Given the description of an element on the screen output the (x, y) to click on. 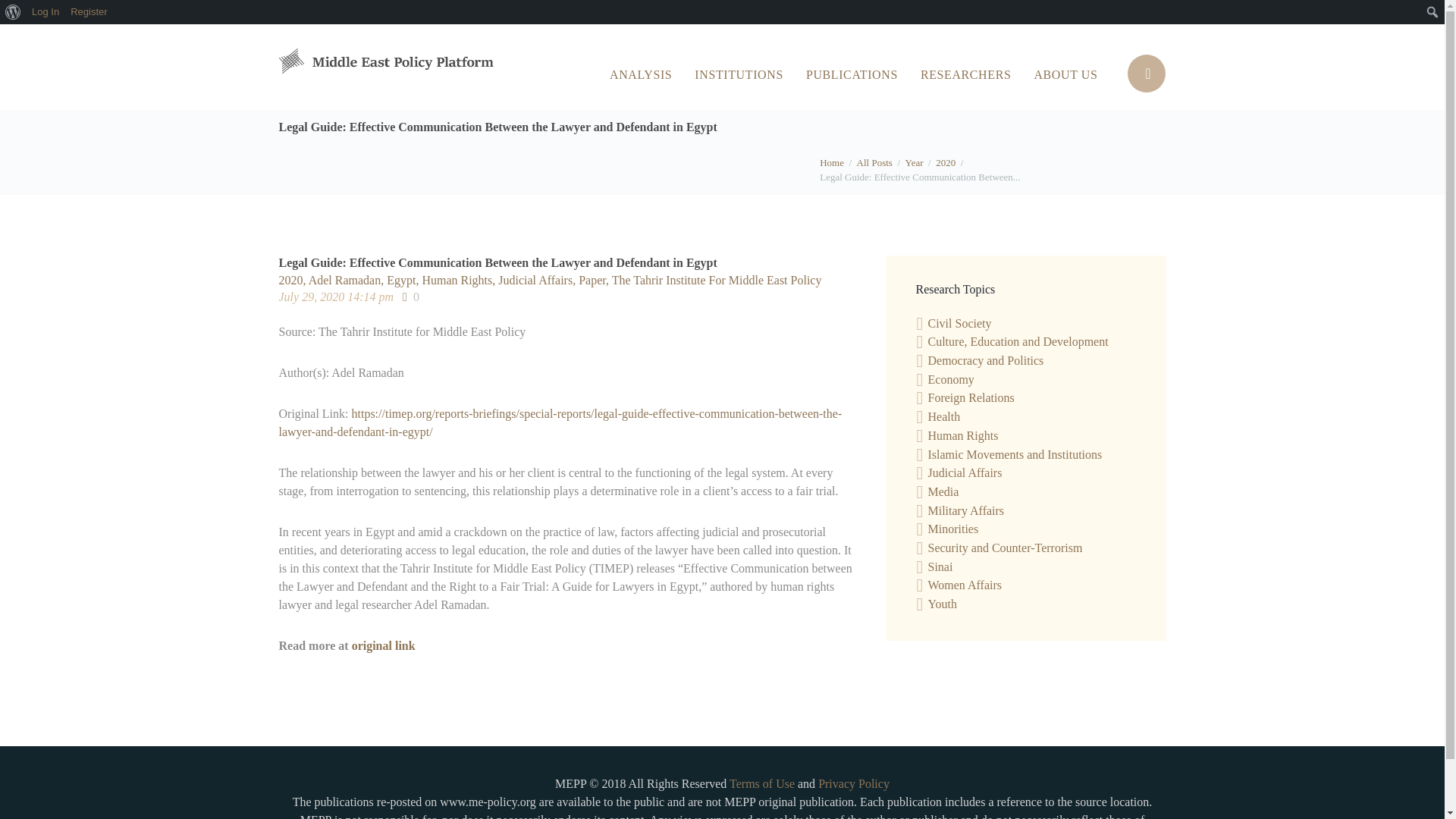
Democracy and Politics (985, 359)
Judicial Affairs (537, 279)
Foreign Relations (971, 397)
All Posts (874, 161)
ABOUT US (1065, 74)
Health (944, 416)
2020 (945, 161)
PUBLICATIONS (852, 74)
Judicial Affairs (965, 472)
INSTITUTIONS (738, 74)
0 (411, 297)
2020 (293, 279)
ANALYSIS (640, 74)
Economy (951, 379)
Culture, Education and Development (1018, 341)
